Given the description of an element on the screen output the (x, y) to click on. 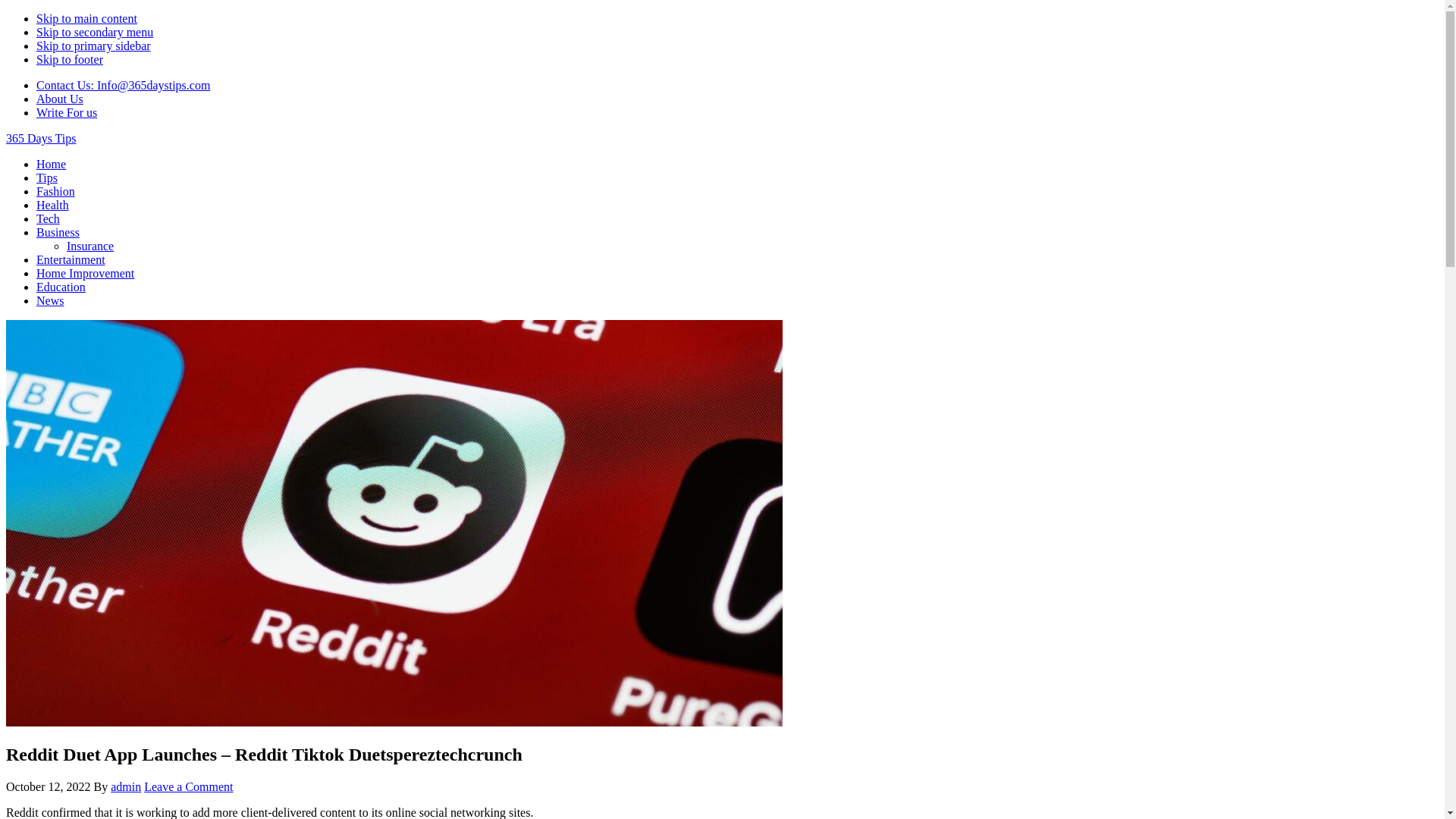
News Element type: text (49, 300)
Tech Element type: text (47, 218)
Tips Element type: text (46, 177)
Insurance Element type: text (89, 245)
365 Days Tips Element type: text (40, 137)
About Us Element type: text (59, 98)
Skip to footer Element type: text (69, 59)
Skip to main content Element type: text (86, 18)
Education Element type: text (60, 286)
Home Element type: text (50, 163)
Skip to secondary menu Element type: text (94, 31)
Contact Us: Info@365daystips.com Element type: text (123, 84)
Business Element type: text (57, 231)
Home Improvement Element type: text (85, 272)
Health Element type: text (52, 204)
Fashion Element type: text (55, 191)
admin Element type: text (125, 786)
Leave a Comment Element type: text (188, 786)
Write For us Element type: text (66, 112)
Entertainment Element type: text (70, 259)
Skip to primary sidebar Element type: text (93, 45)
